Given the description of an element on the screen output the (x, y) to click on. 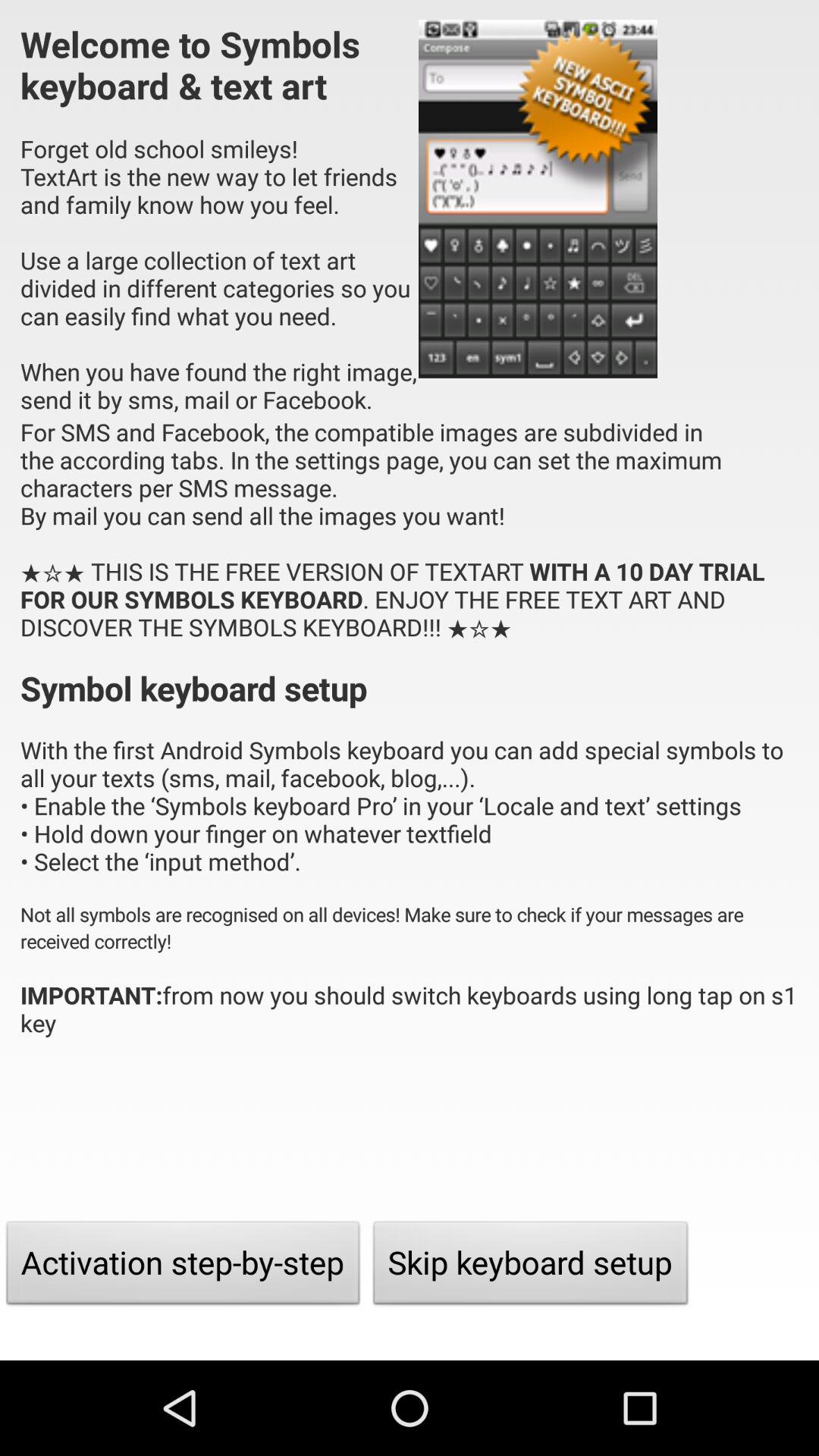
scroll to the activation step by button (183, 1266)
